Given the description of an element on the screen output the (x, y) to click on. 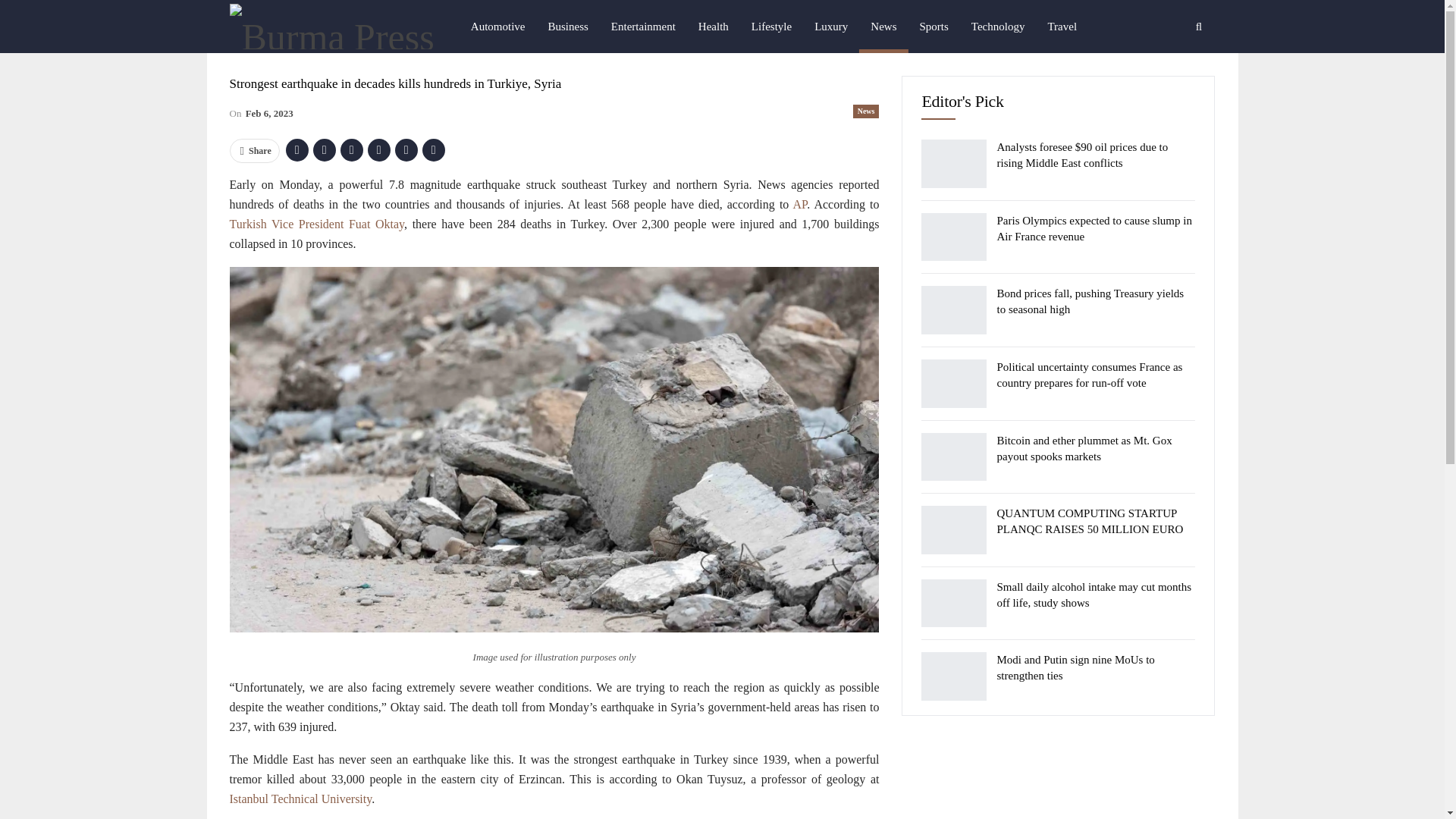
Luxury (831, 26)
Health (713, 26)
Automotive (498, 26)
Bond prices fall, pushing Treasury yields to seasonal high (954, 309)
Entertainment (643, 26)
News (883, 26)
Lifestyle (771, 26)
AP (800, 204)
Sports (933, 26)
